Given the description of an element on the screen output the (x, y) to click on. 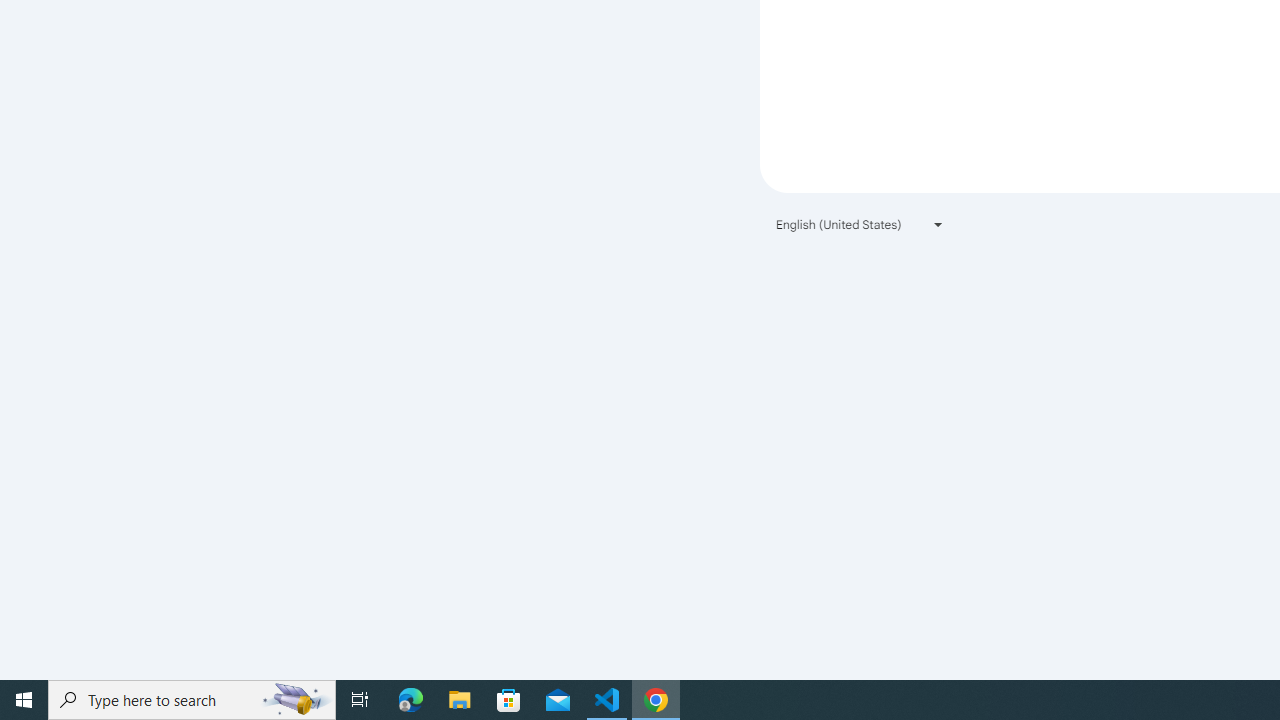
English (United States) (860, 224)
